Given the description of an element on the screen output the (x, y) to click on. 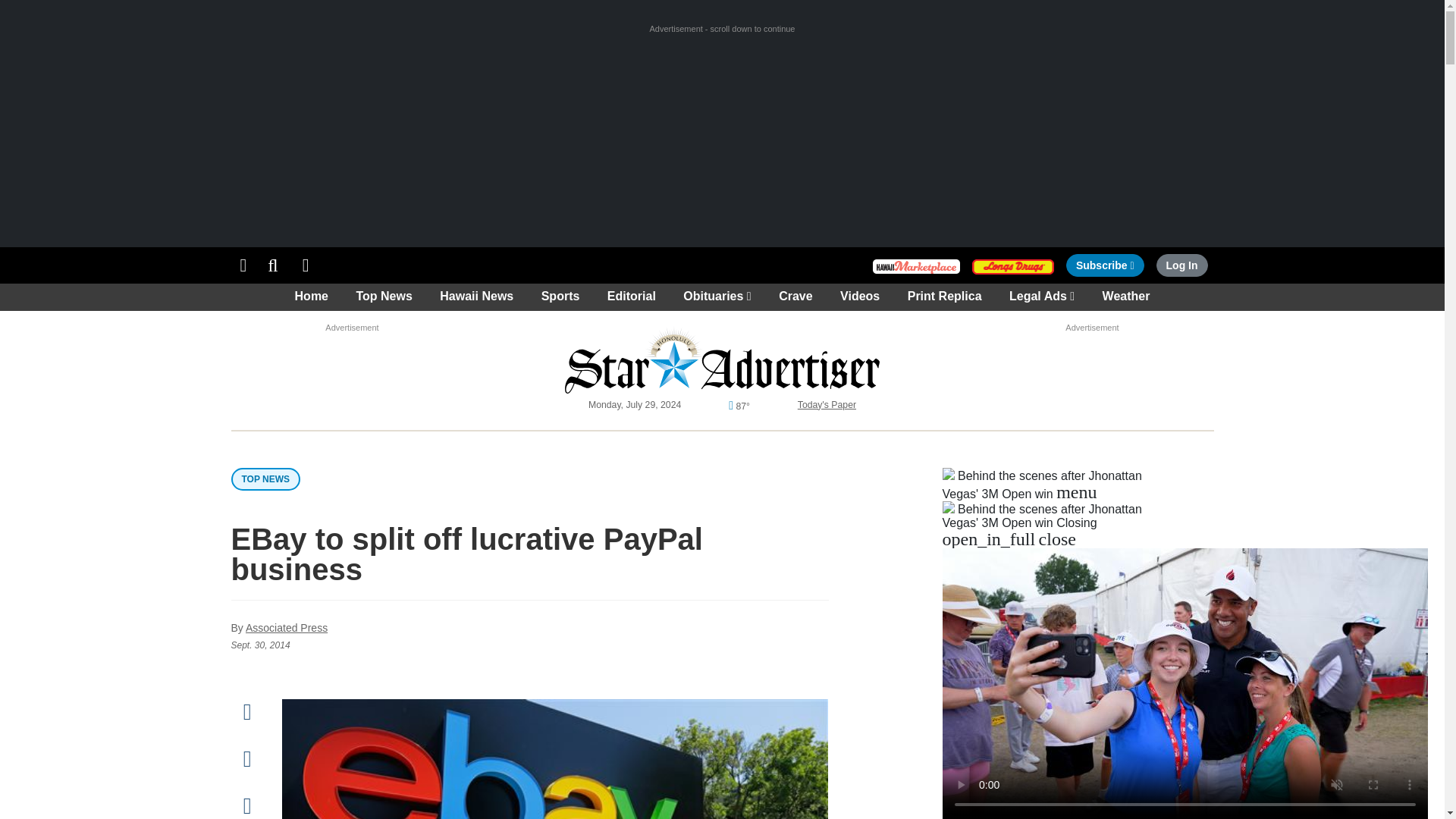
Log In (1182, 264)
Opens in a new tab (1104, 264)
3rd party ad content (1013, 264)
Sections (306, 265)
Opens in a new tab (243, 265)
3rd party ad content (915, 264)
Search (351, 351)
